Given the description of an element on the screen output the (x, y) to click on. 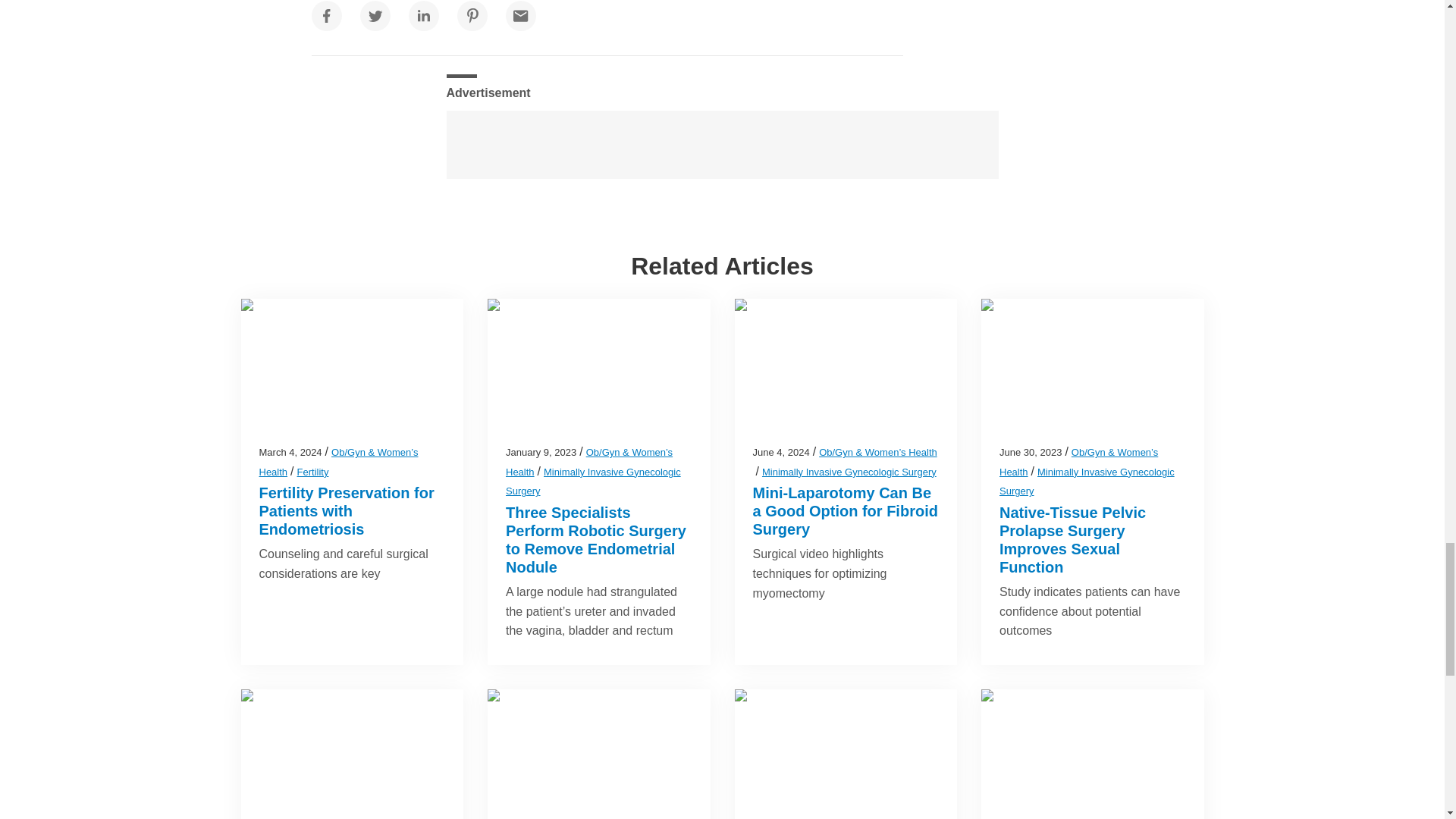
Fertility (313, 471)
Fertility Preservation for Patients with Endometriosis (346, 510)
